Given the description of an element on the screen output the (x, y) to click on. 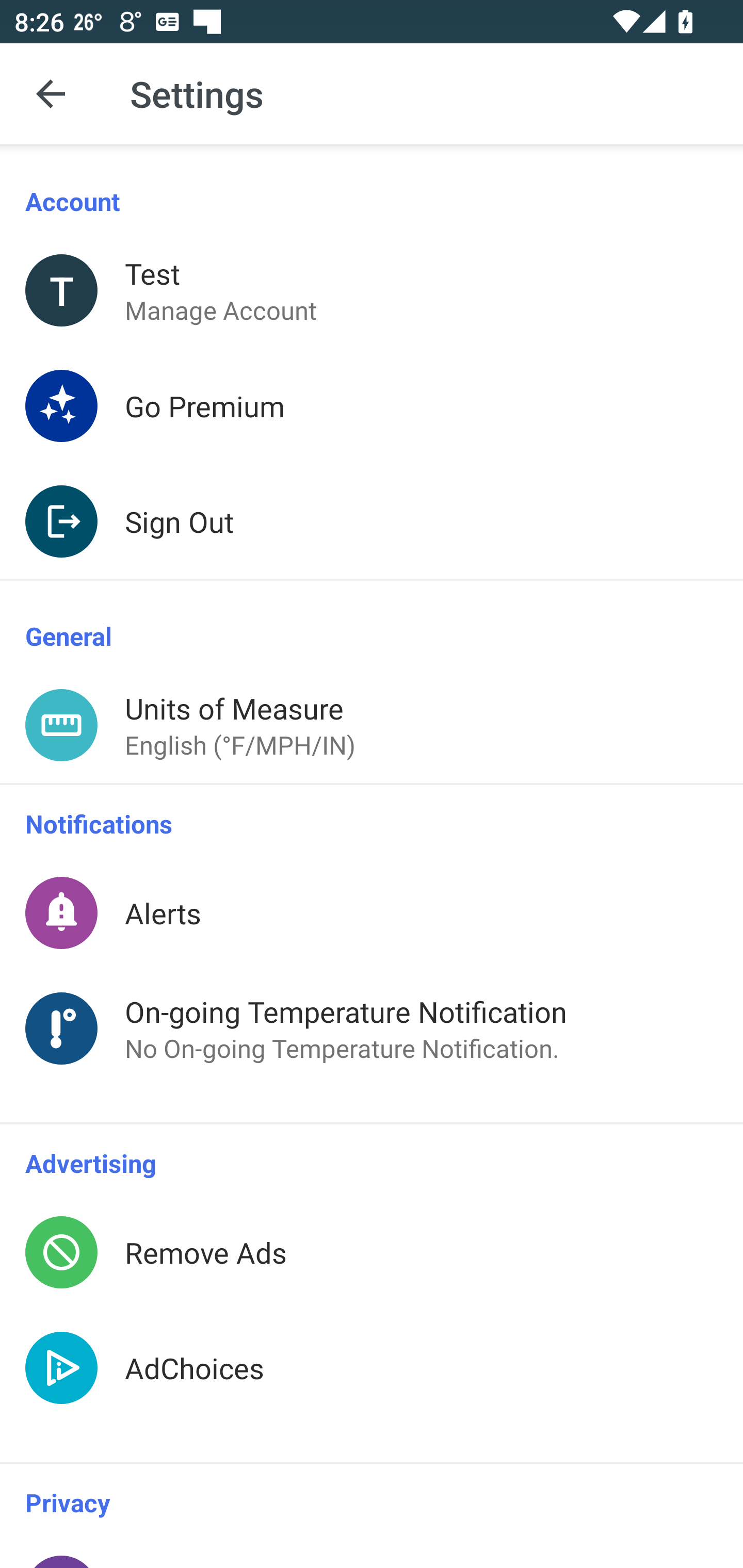
Navigate up (50, 93)
Setting icon T Test Manage Account (371, 290)
Setting icon Go Premium (371, 406)
Setting icon Sign Out (371, 521)
Setting icon Alerts (371, 912)
Setting icon Remove Ads (371, 1252)
Setting icon AdChoices (371, 1385)
